Given the description of an element on the screen output the (x, y) to click on. 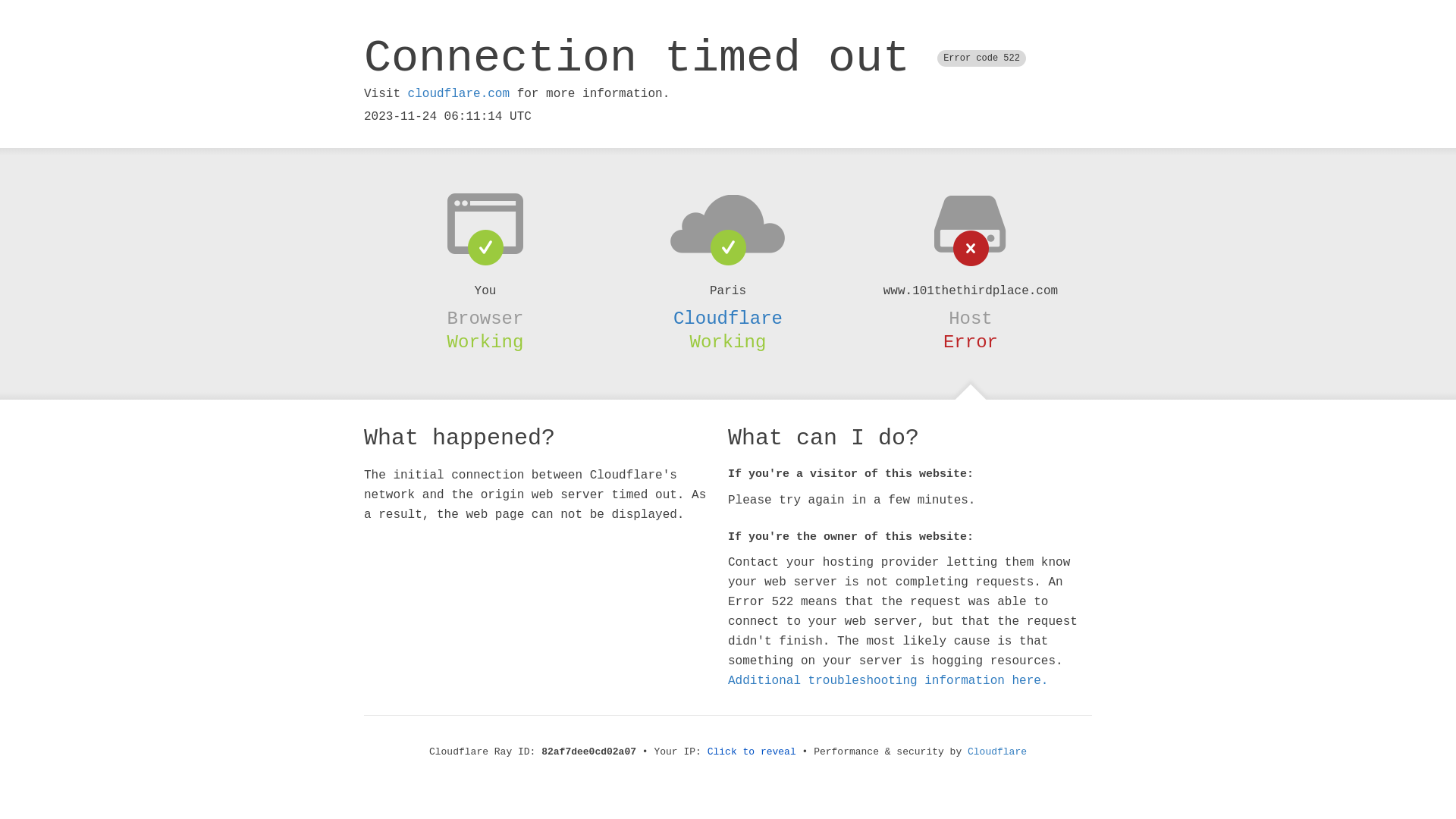
Cloudflare Element type: text (727, 318)
Additional troubleshooting information here. Element type: text (888, 680)
Cloudflare Element type: text (996, 751)
cloudflare.com Element type: text (458, 93)
Click to reveal Element type: text (751, 751)
